Given the description of an element on the screen output the (x, y) to click on. 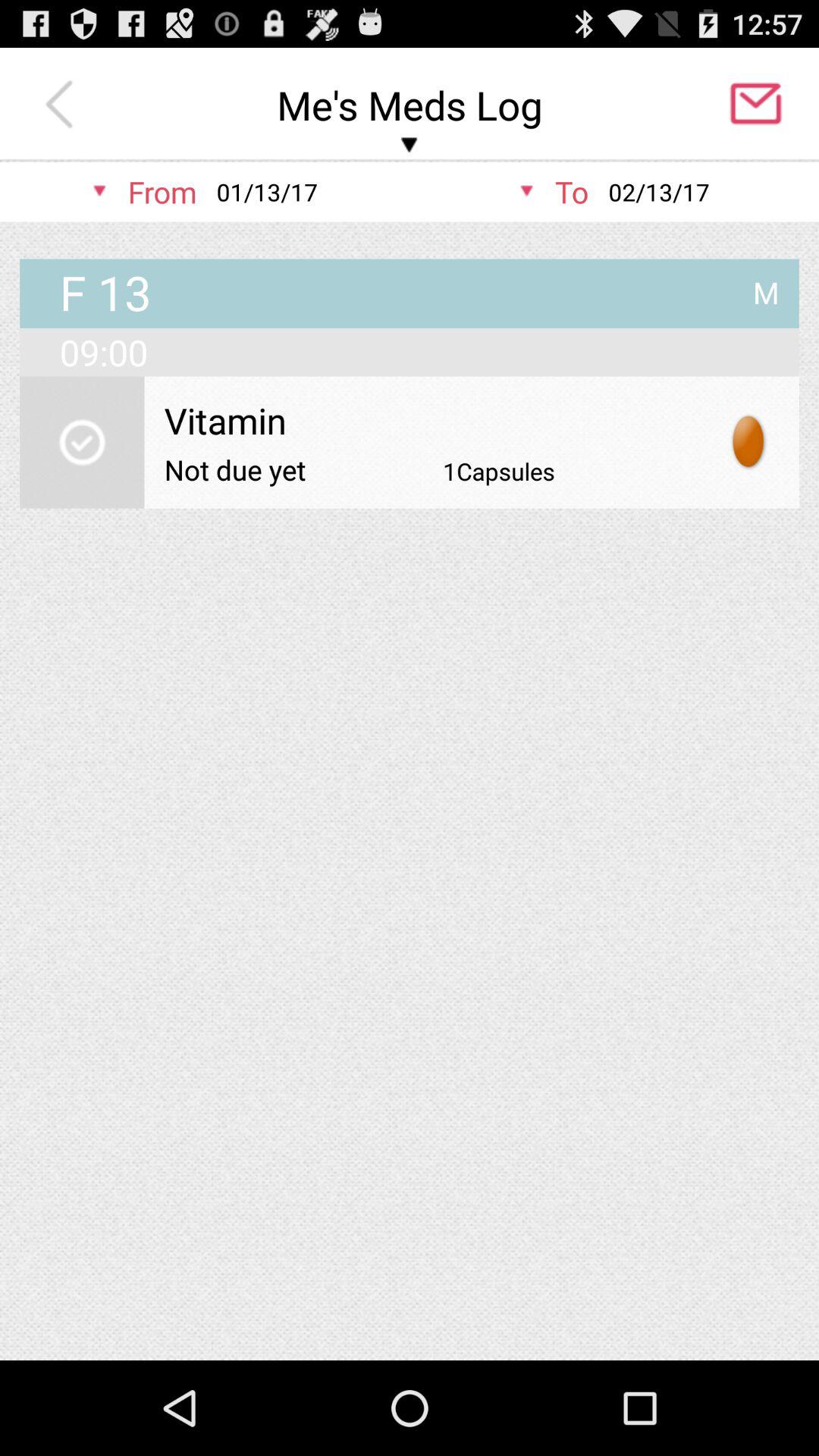
launch item above from (63, 104)
